Given the description of an element on the screen output the (x, y) to click on. 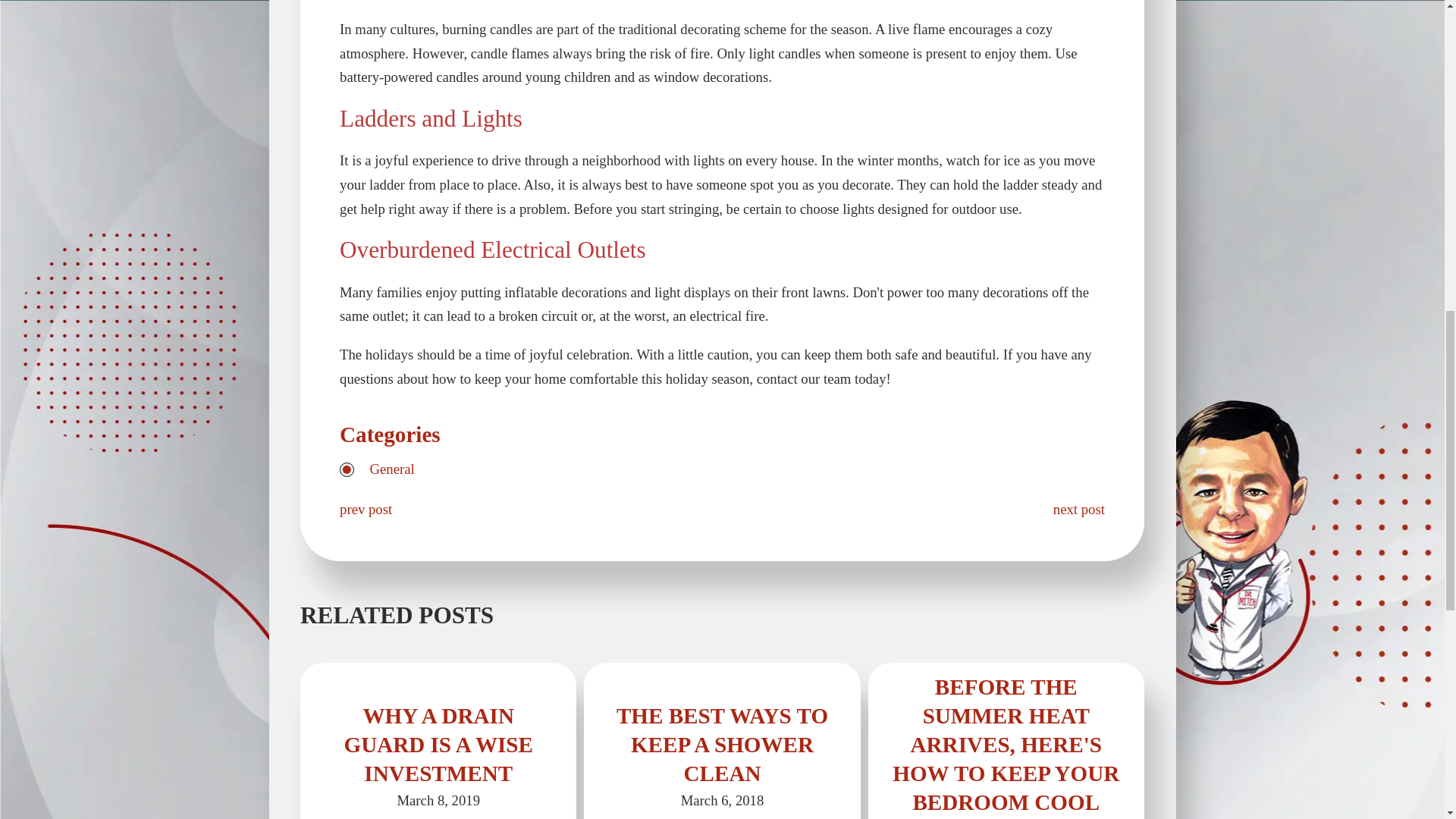
WHY A DRAIN GUARD IS A WISE INVESTMENT (437, 744)
prev post (365, 508)
THE BEST WAYS TO KEEP A SHOWER CLEAN (721, 744)
General (391, 468)
next post (1078, 508)
